Given the description of an element on the screen output the (x, y) to click on. 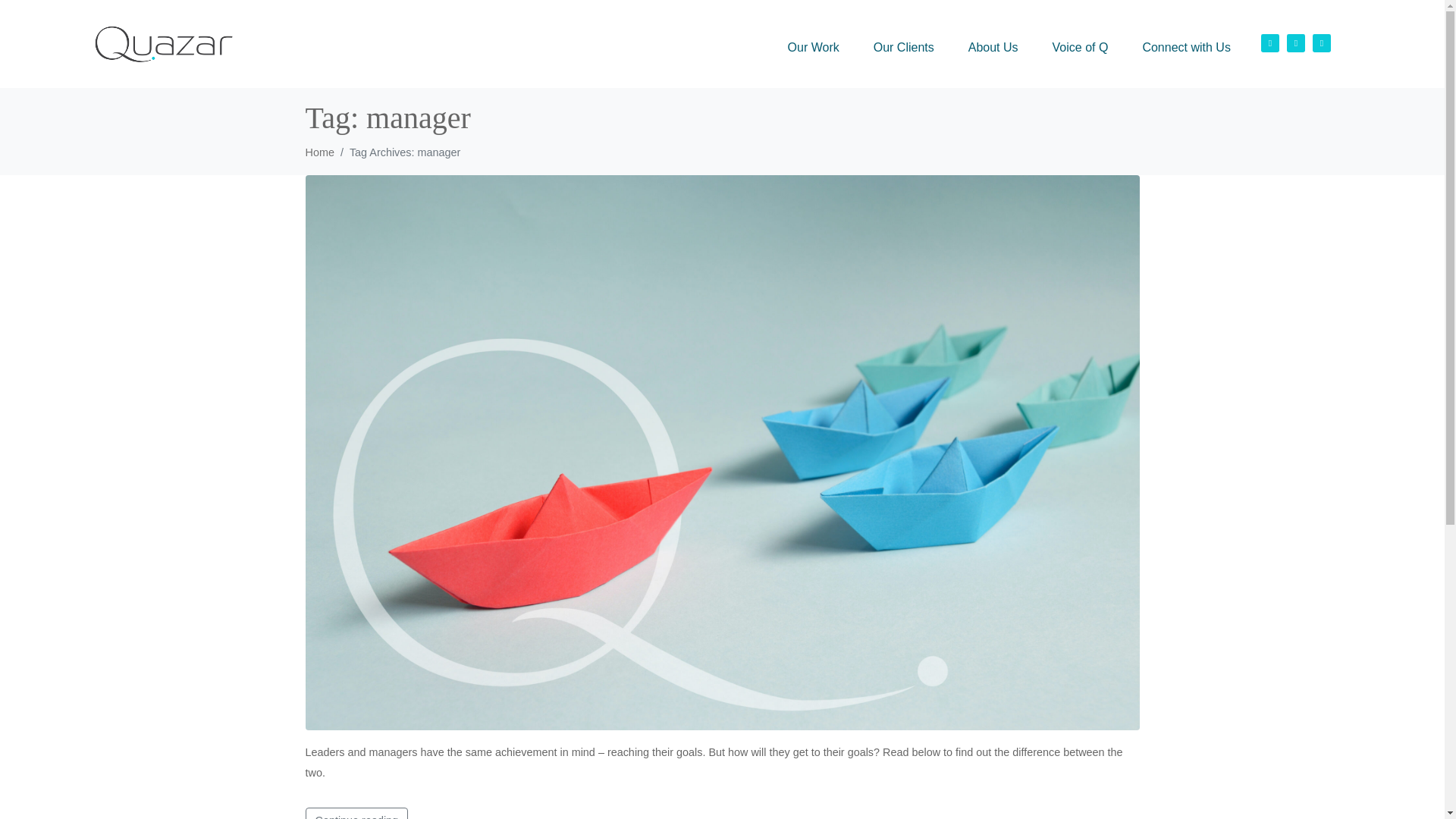
Connect with Us (1186, 47)
Continue reading (355, 813)
About Us (993, 47)
Home (318, 152)
Our Clients (904, 47)
Voice of Q (1080, 47)
Our Work (813, 47)
